Given the description of an element on the screen output the (x, y) to click on. 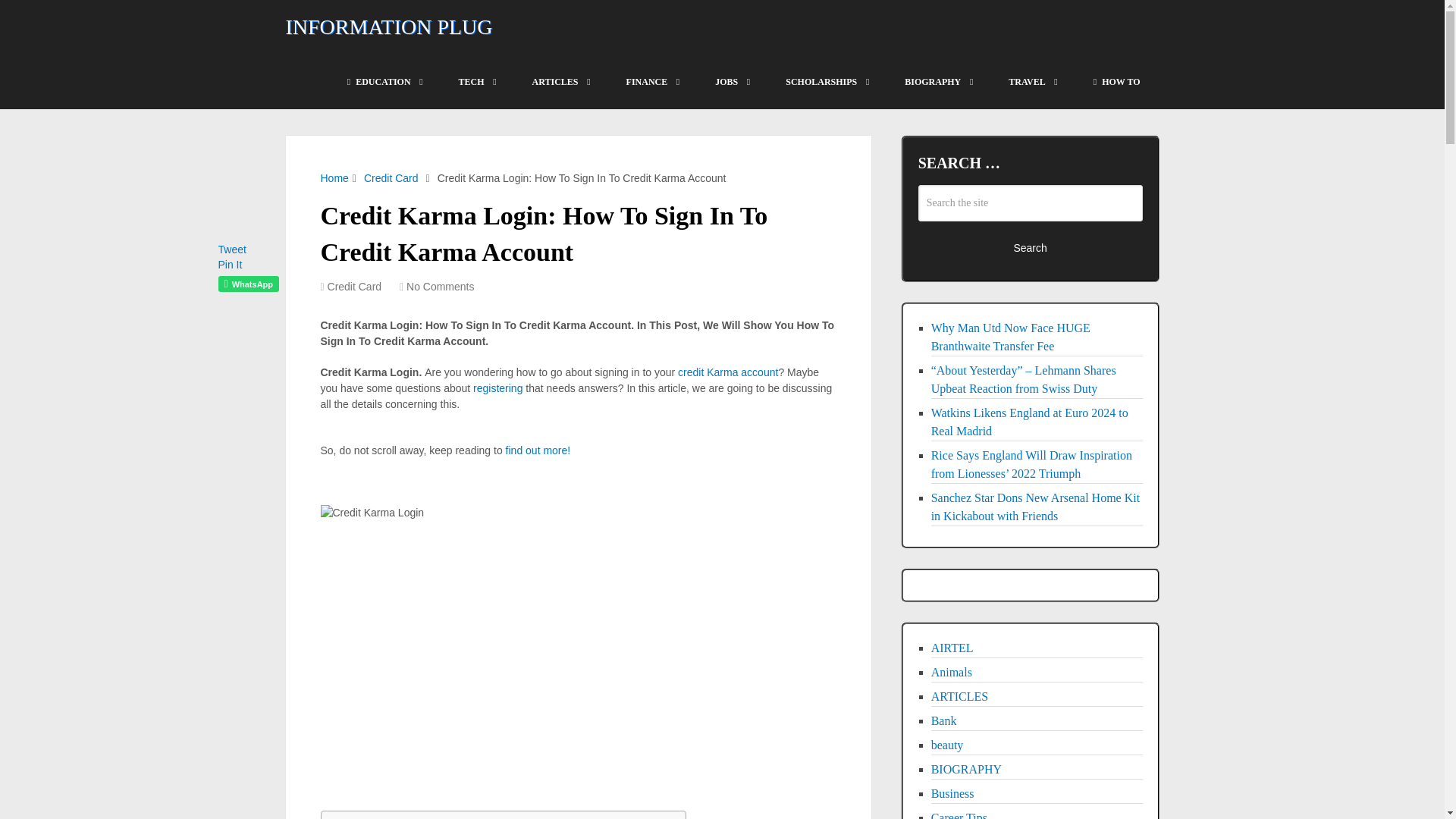
JOBS (731, 81)
SCHOLARSHIPS (826, 81)
INFORMATION PLUG (388, 26)
View all posts in Credit Card (354, 286)
TECH (476, 81)
ARTICLES (560, 81)
EDUCATION (384, 81)
FINANCE (652, 81)
BIOGRAPHY (937, 81)
